Given the description of an element on the screen output the (x, y) to click on. 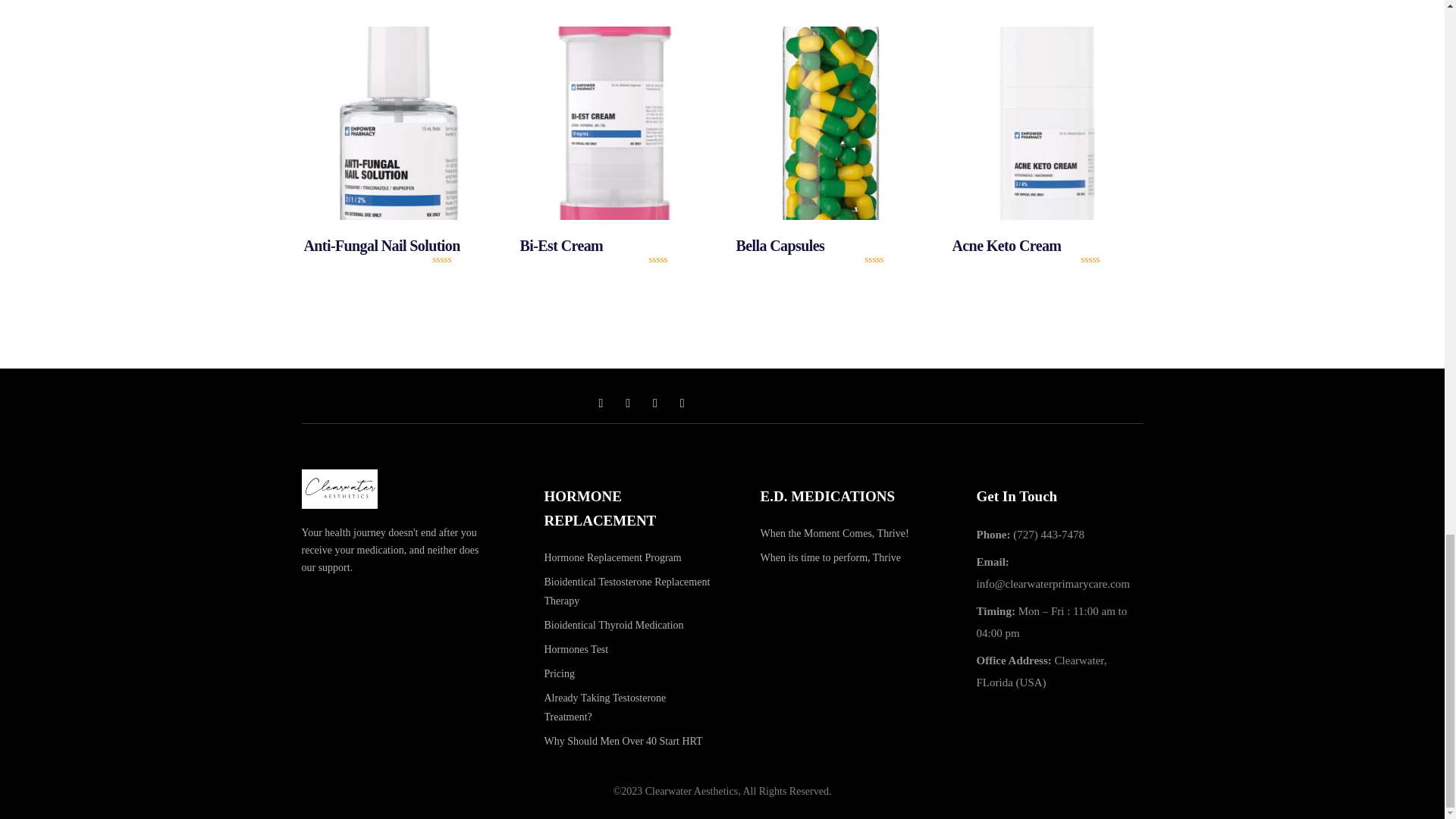
Rated 0 out of 5 (458, 259)
Rated 0 out of 5 (890, 259)
Rated 0 out of 5 (1107, 259)
Rated 0 out of 5 (674, 259)
